Given the description of an element on the screen output the (x, y) to click on. 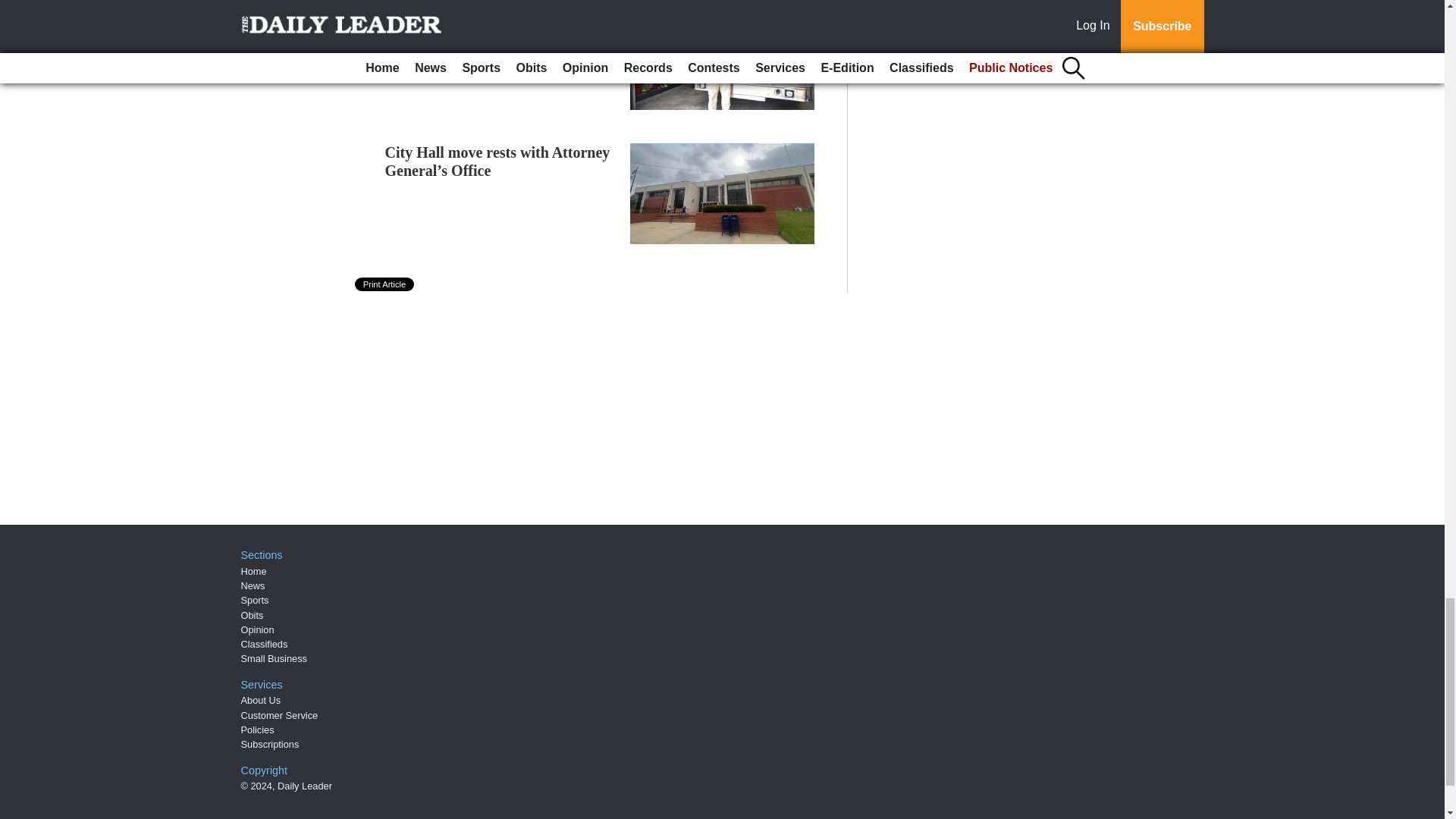
Print Article (384, 284)
